Given the description of an element on the screen output the (x, y) to click on. 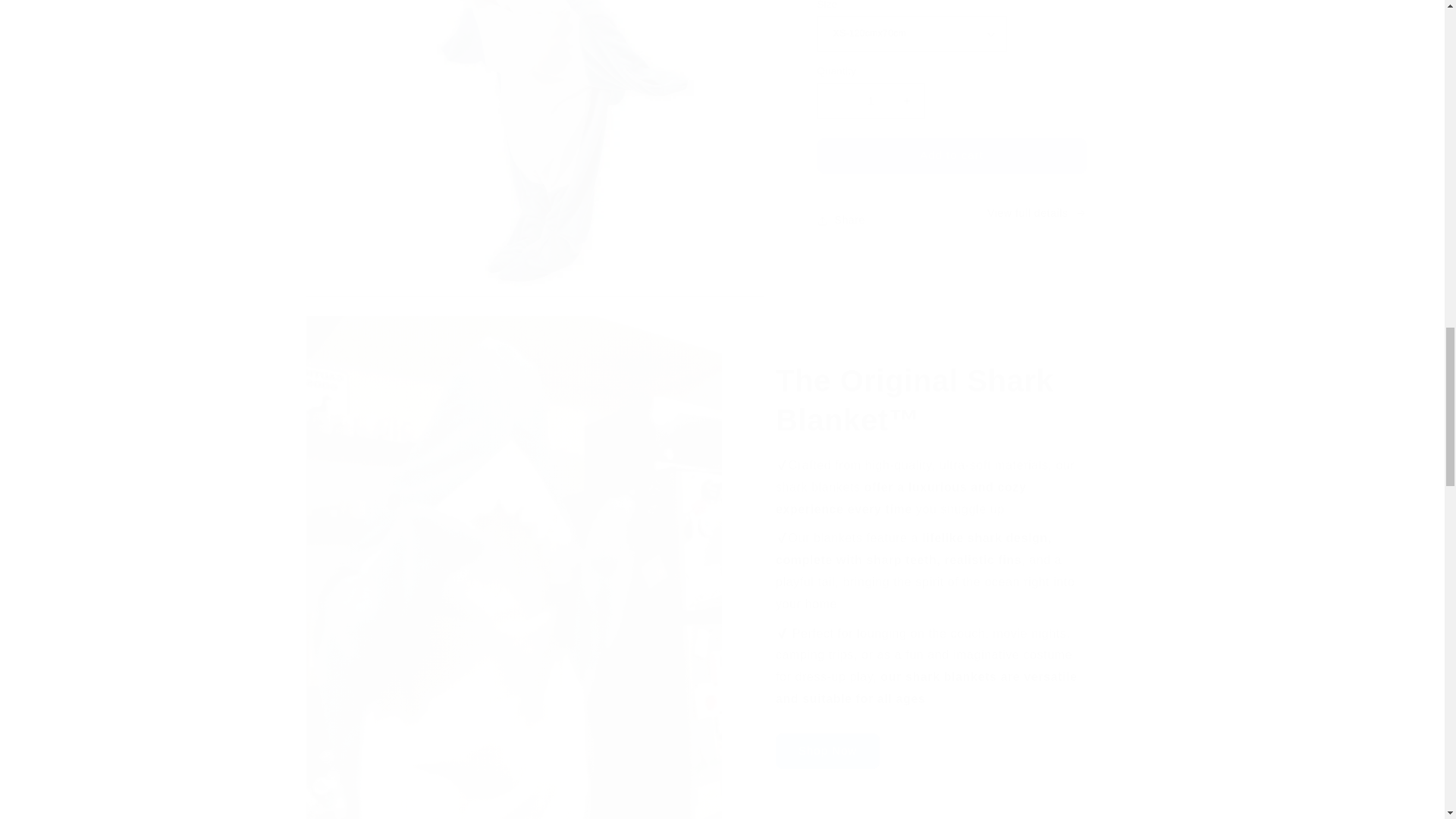
1 (870, 100)
Shop Now (826, 751)
Add to cart (951, 155)
View full details (1036, 212)
